Given the description of an element on the screen output the (x, y) to click on. 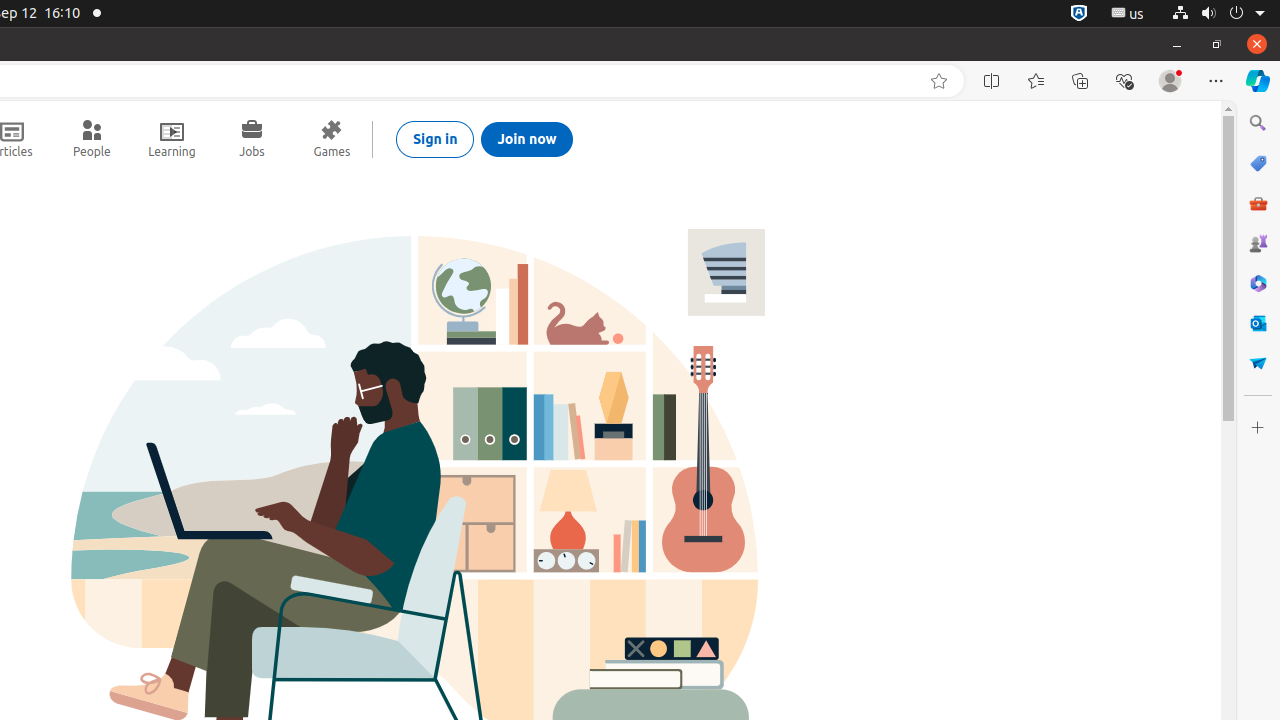
Learning Element type: link (171, 139)
Favorites Element type: push-button (1036, 81)
Microsoft 365 Element type: push-button (1258, 283)
Games Element type: push-button (1258, 243)
Settings and more (Alt+F) Element type: push-button (1216, 81)
